Given the description of an element on the screen output the (x, y) to click on. 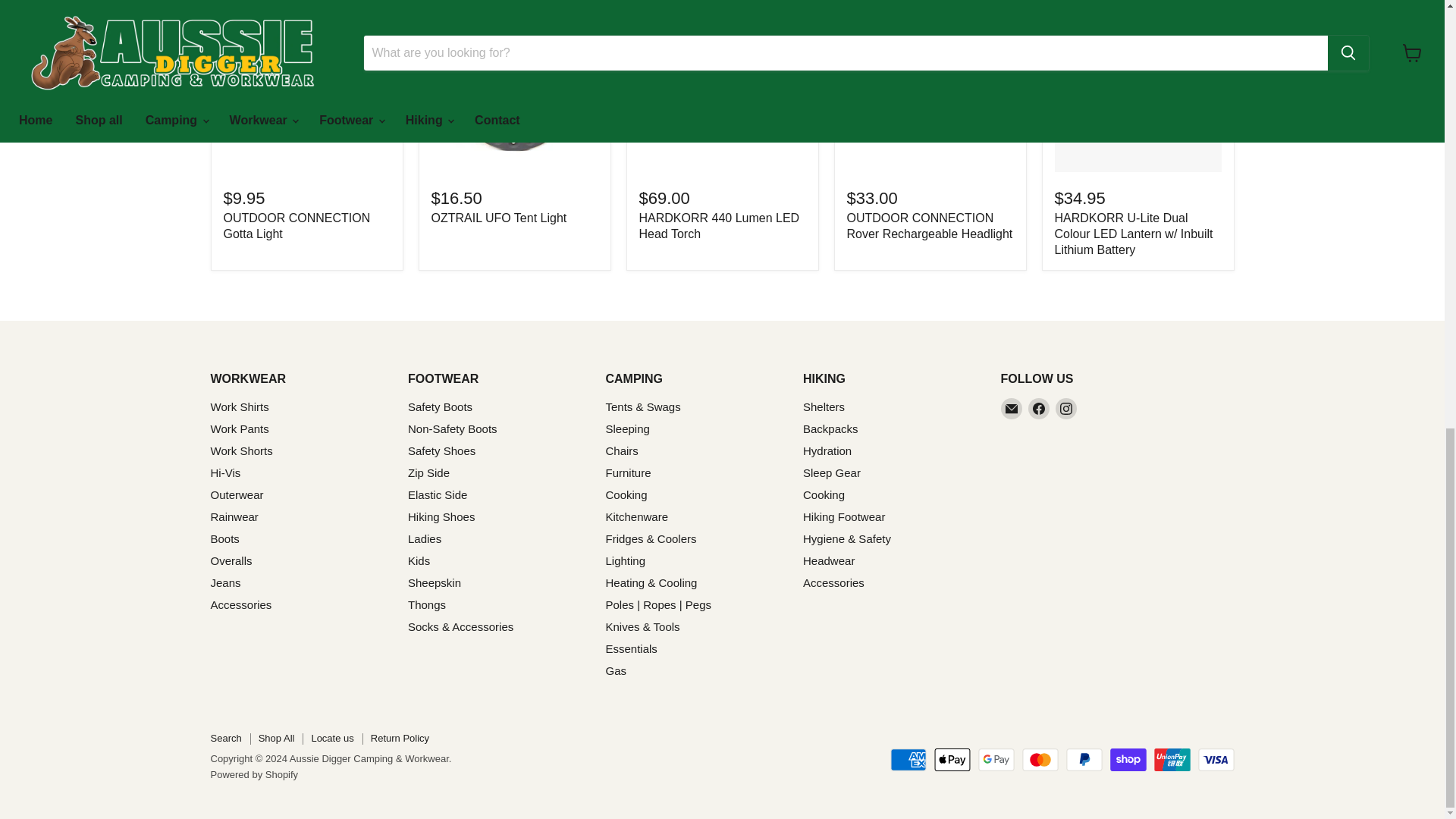
American Express (907, 759)
Instagram (1066, 408)
Facebook (1038, 408)
Email (1011, 408)
